Given the description of an element on the screen output the (x, y) to click on. 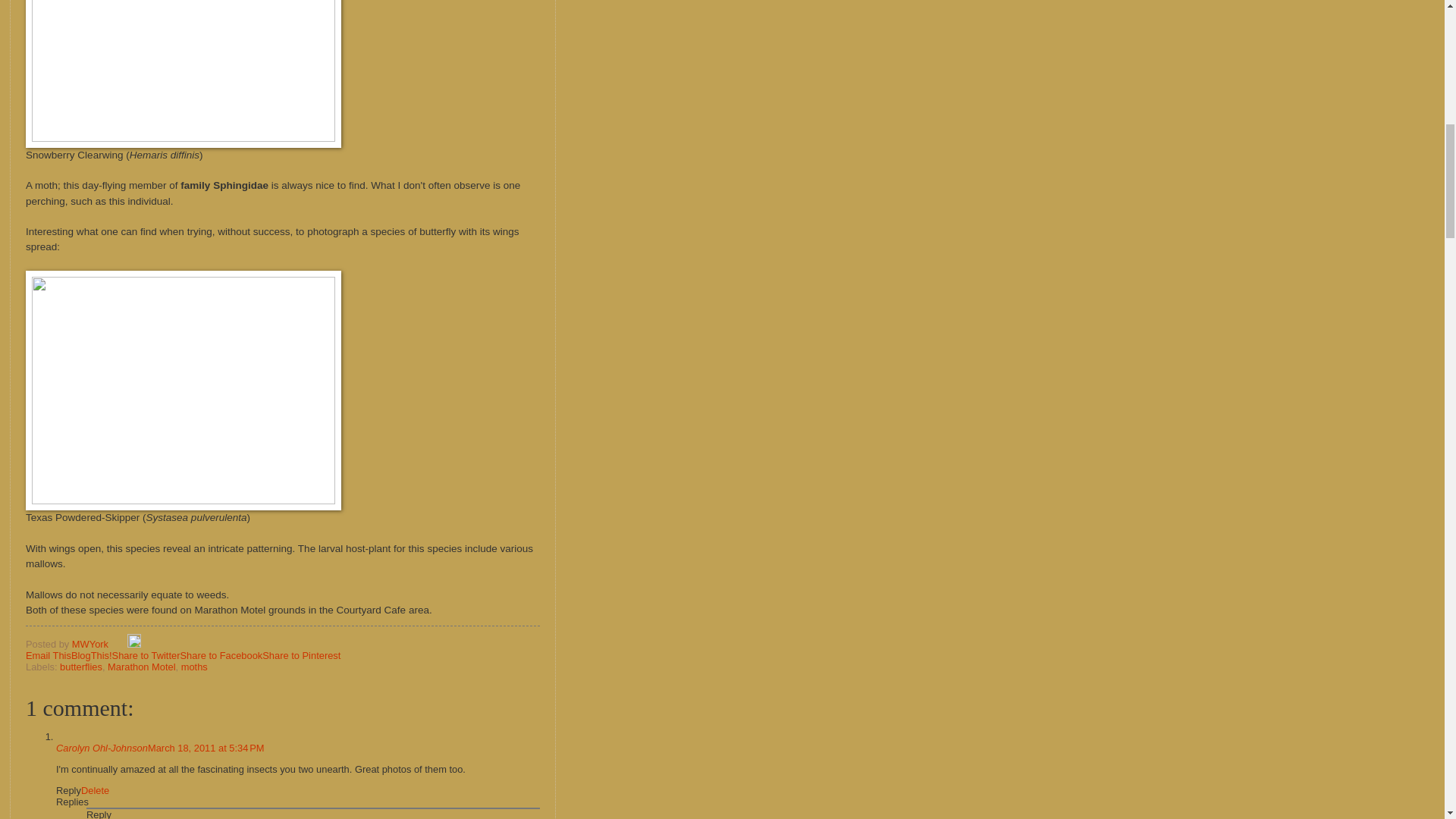
Carolyn Ohl-Johnson (102, 747)
MWYork (91, 644)
BlogThis! (91, 655)
Share to Pinterest (301, 655)
Email Post (120, 644)
Share to Twitter (146, 655)
Reply (68, 790)
Share to Facebook (220, 655)
Edit Post (134, 644)
Share to Facebook (220, 655)
Email This (48, 655)
Email This (48, 655)
Reply (98, 814)
moths (194, 666)
